Given the description of an element on the screen output the (x, y) to click on. 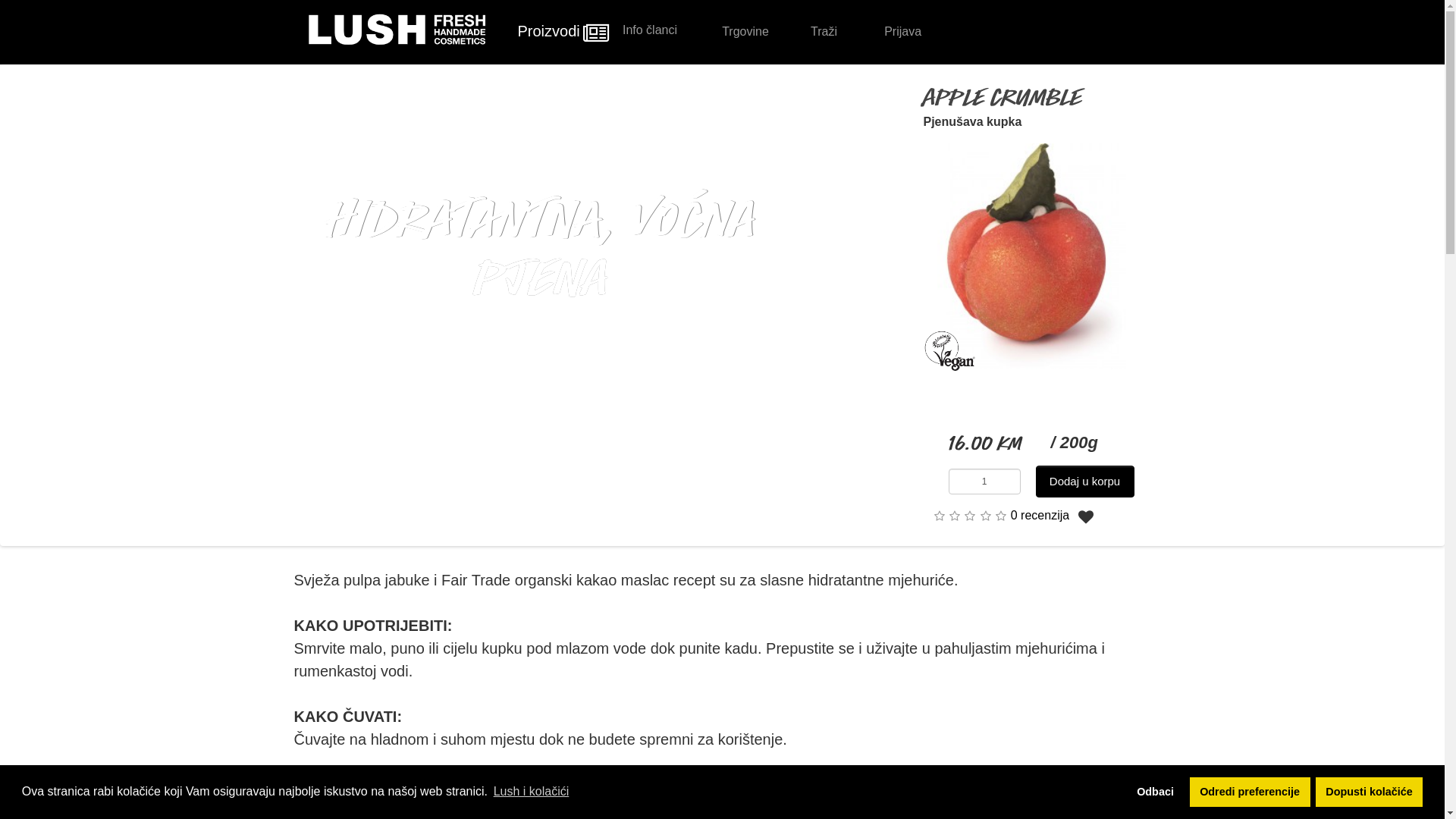
Apple Crumble Element type: hover (1036, 256)
0 recenzija Element type: text (1039, 514)
LUSH Element type: hover (396, 30)
Odbaci Element type: text (1155, 791)
Dodaj u korpu Element type: text (1084, 481)
Odredi preferencije Element type: text (1249, 791)
